Given the description of an element on the screen output the (x, y) to click on. 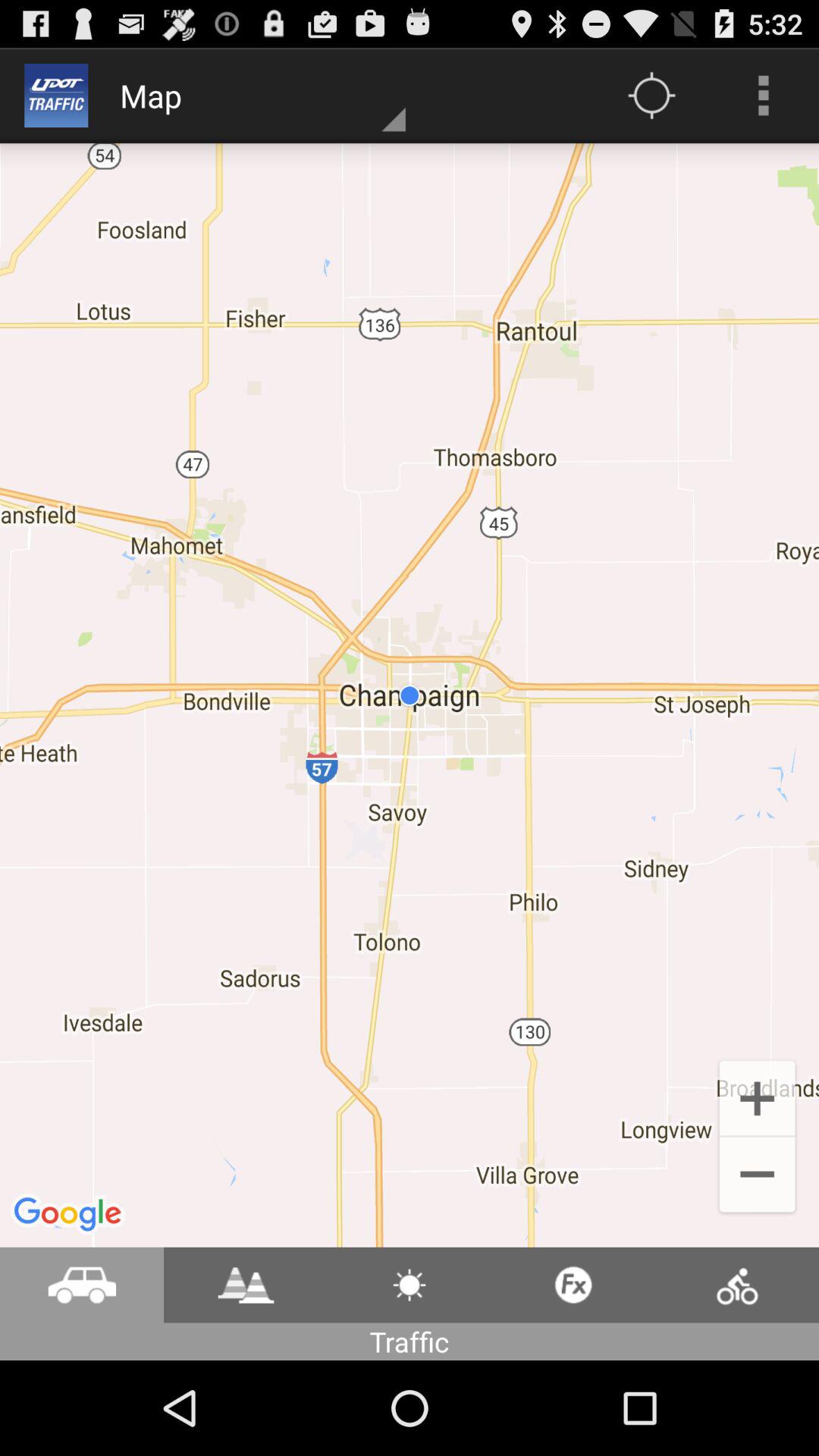
button (409, 1284)
